Given the description of an element on the screen output the (x, y) to click on. 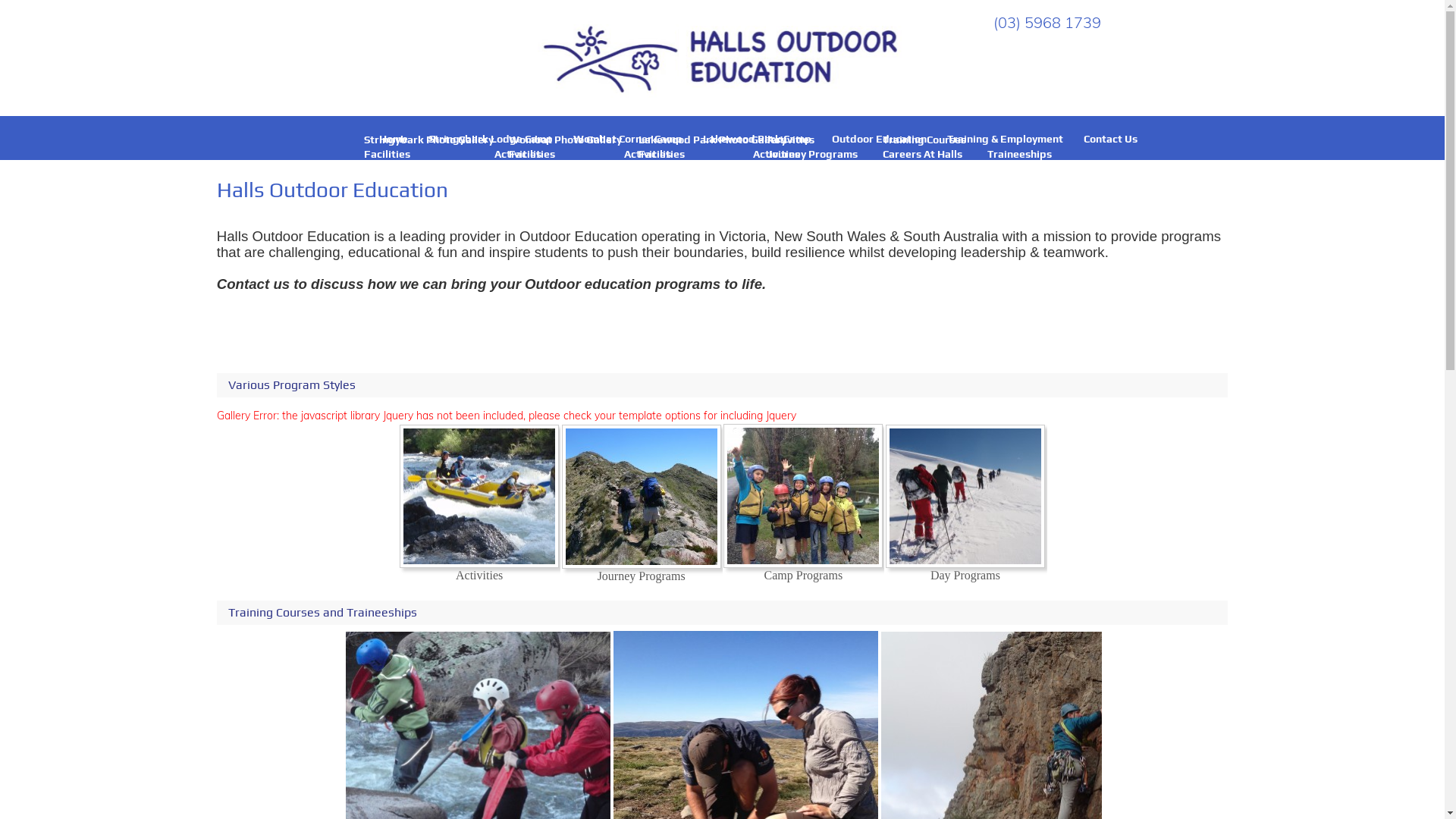
Location Element type: text (649, 167)
2009 SKI TOUR   FALLS CREEK 234 Element type: hover (964, 495)
Catering Element type: text (530, 167)
Stringybark Photo Gallery Element type: text (428, 139)
Lakewood Park Camp Element type: text (756, 138)
Catering Element type: text (660, 167)
Facilities Element type: text (386, 153)
Activities Element type: text (647, 153)
Camp Programs Element type: text (807, 167)
Wombat Corner Forms Element type: text (565, 196)
Facilities Element type: text (661, 153)
Various Program Styles Element type: text (722, 385)
Location Element type: text (778, 167)
Journey Programs Element type: text (812, 153)
Training Courses and Traineeships Element type: text (722, 612)
School Holiday Programs Element type: text (570, 182)
Traineeships Element type: text (1019, 153)
Catering Element type: text (385, 167)
(03) 5968 1739 Element type: text (1047, 21)
Halls Photo Gallery Element type: text (814, 239)
Lakewood Park Forms Element type: text (694, 182)
Contact Us Element type: text (1110, 138)
Training & Employment Element type: text (1005, 138)
Outdoor Education Element type: text (878, 138)
Activities Element type: text (517, 153)
Raft course day 5 2008 209 Element type: hover (478, 495)
Lakewood Park Photo Gallery Element type: text (712, 139)
Stringybark Lodge Camp Element type: text (490, 138)
Activities Element type: text (776, 153)
Stringybark Lodge Forms Element type: text (427, 182)
Request Form Element type: text (802, 196)
Training Courses Element type: text (924, 139)
Day Programs Element type: text (802, 182)
Home Element type: text (393, 138)
wombat canoe Element type: hover (802, 495)
Careers At Halls Element type: text (922, 153)
Important Information Element type: text (823, 225)
Location Element type: text (519, 167)
File Repository Element type: text (805, 211)
Wombat Corner Camp Element type: text (627, 138)
Activities Element type: text (790, 139)
Facilities Element type: text (531, 153)
P1020652 2  copy Element type: hover (641, 496)
Wombat Photo Gallery Element type: text (565, 139)
Nepal Experience Element type: text (812, 254)
